Given the description of an element on the screen output the (x, y) to click on. 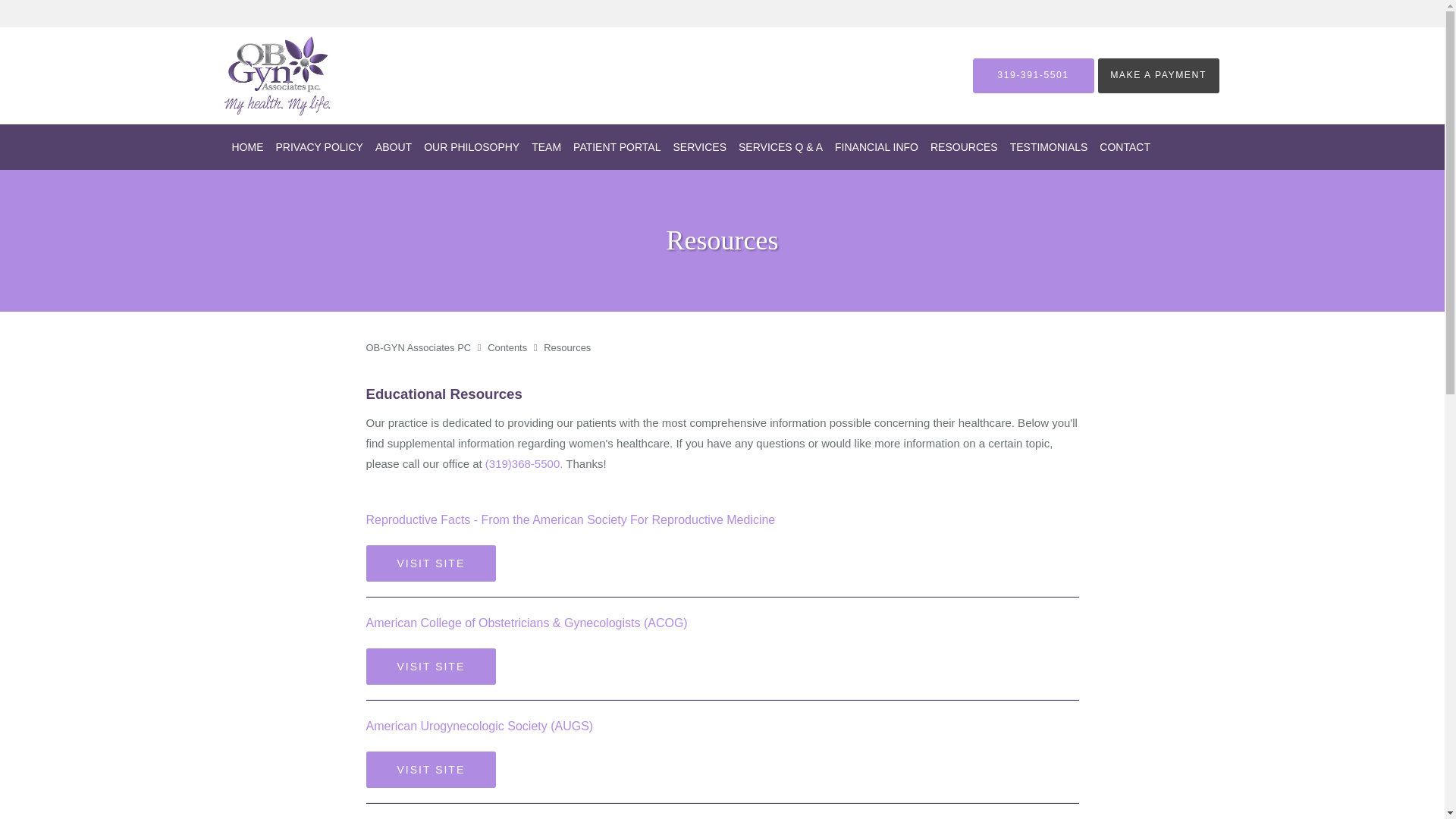
OUR PHILOSOPHY (471, 146)
PATIENT PORTAL (616, 146)
MAKE A PAYMENT (1158, 75)
HOME (247, 146)
SERVICES (699, 146)
TEAM (546, 146)
ABOUT (393, 146)
319-391-5501 (1032, 75)
PRIVACY POLICY (319, 146)
